Given the description of an element on the screen output the (x, y) to click on. 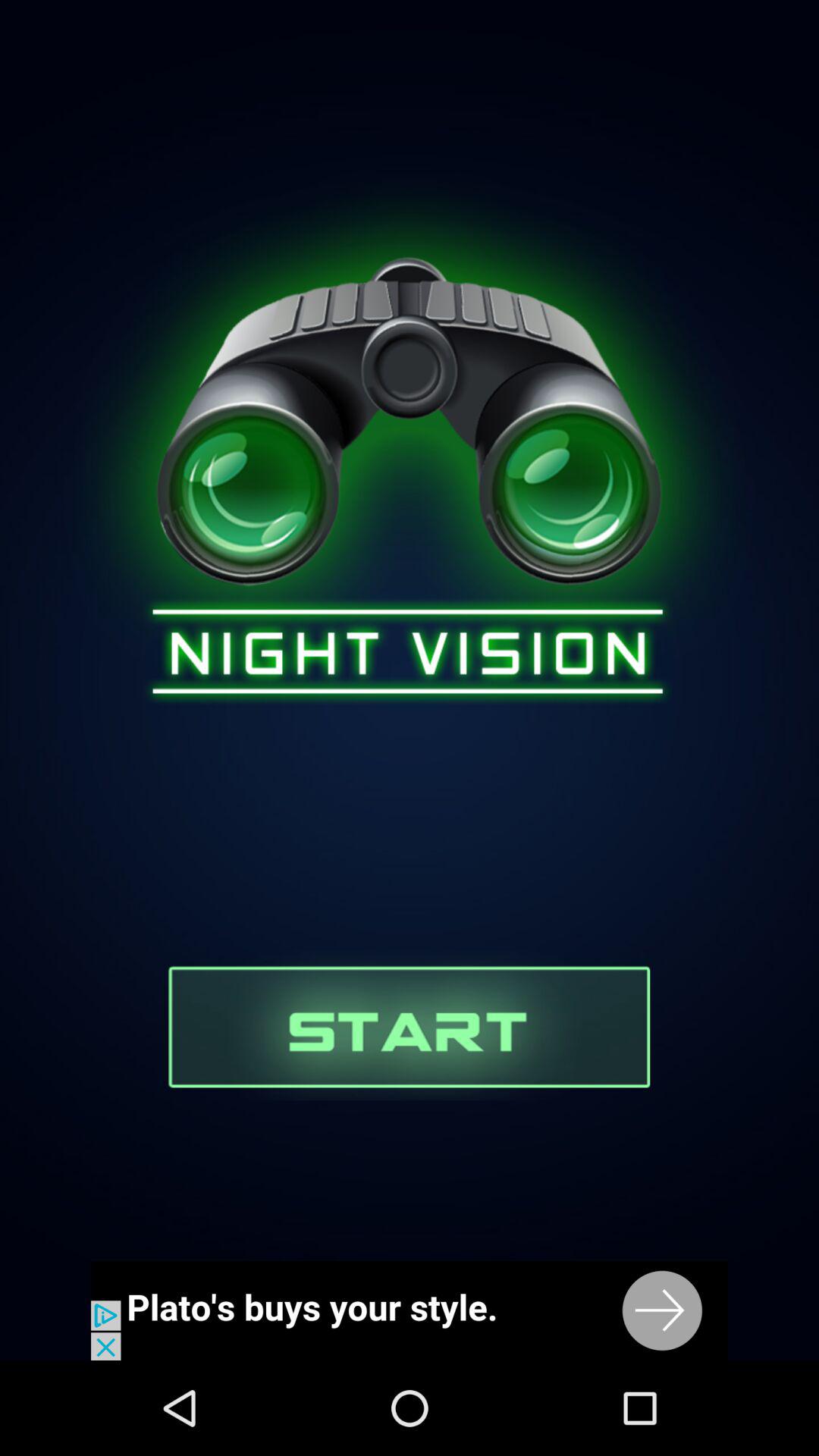
go to this advertisement (409, 1310)
